Given the description of an element on the screen output the (x, y) to click on. 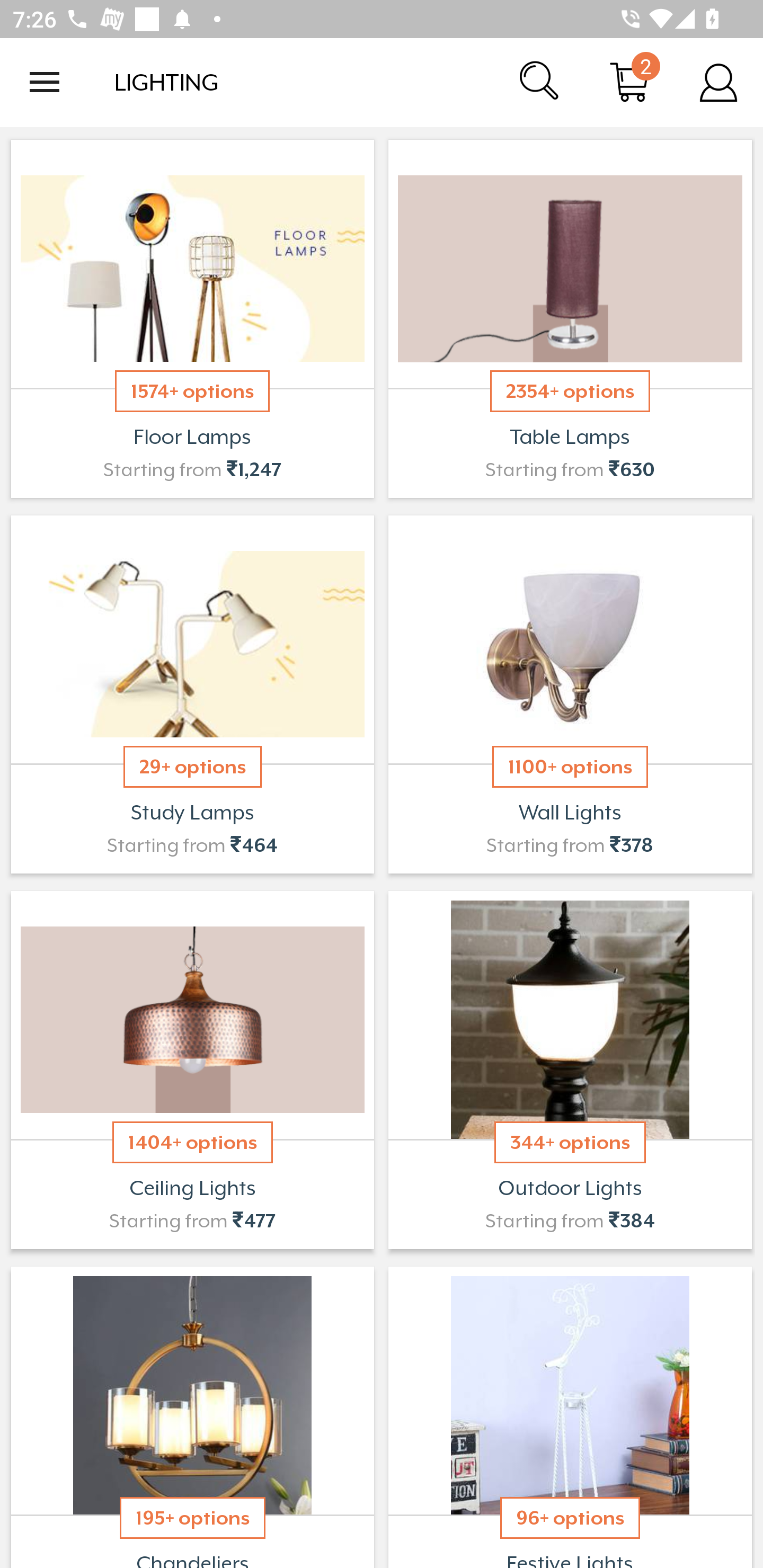
Open navigation drawer (44, 82)
Search (540, 81)
Cart (629, 81)
Account Details (718, 81)
1574+ options Floor Lamps Starting from  ₹1,247 (191, 318)
2354+ options Table Lamps Starting from  ₹630 (570, 318)
29+ options Study Lamps Starting from  ₹464 (191, 694)
1100+ options Wall Lights Starting from  ₹378 (570, 694)
1404+ options Ceiling Lights Starting from  ₹477 (191, 1069)
344+ options Outdoor Lights Starting from  ₹384 (570, 1069)
195+ options Chandeliers (191, 1415)
96+ options Festive Lights (570, 1415)
